Given the description of an element on the screen output the (x, y) to click on. 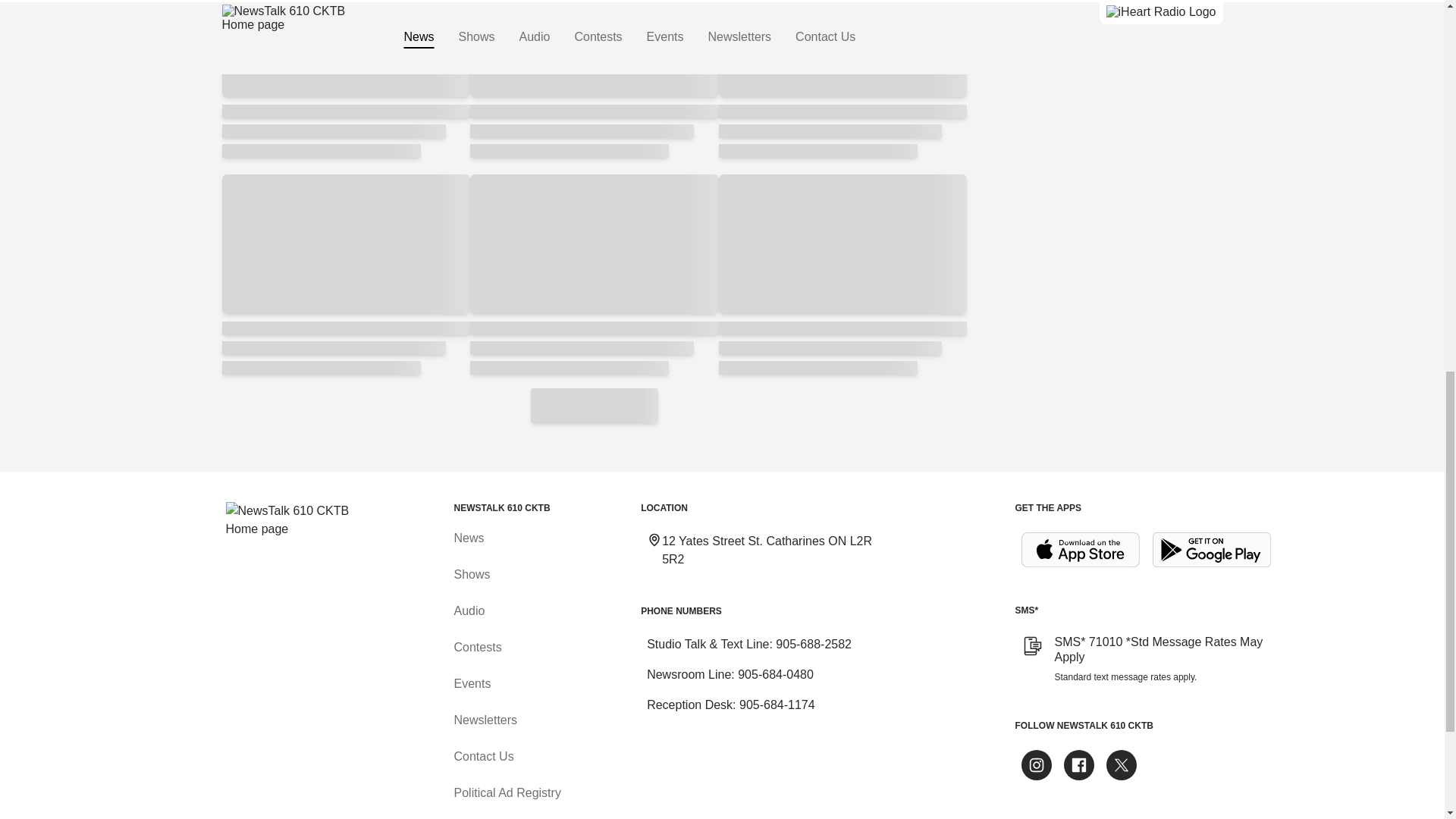
905-684-1174 (777, 704)
Contests (476, 646)
News (467, 537)
Get it on Google Play (1212, 550)
Shows (470, 574)
Contact Us (482, 756)
Download on the App Store (1080, 550)
Newsletters (484, 719)
905-688-2582 (813, 644)
Political Ad Registry (506, 792)
